Given the description of an element on the screen output the (x, y) to click on. 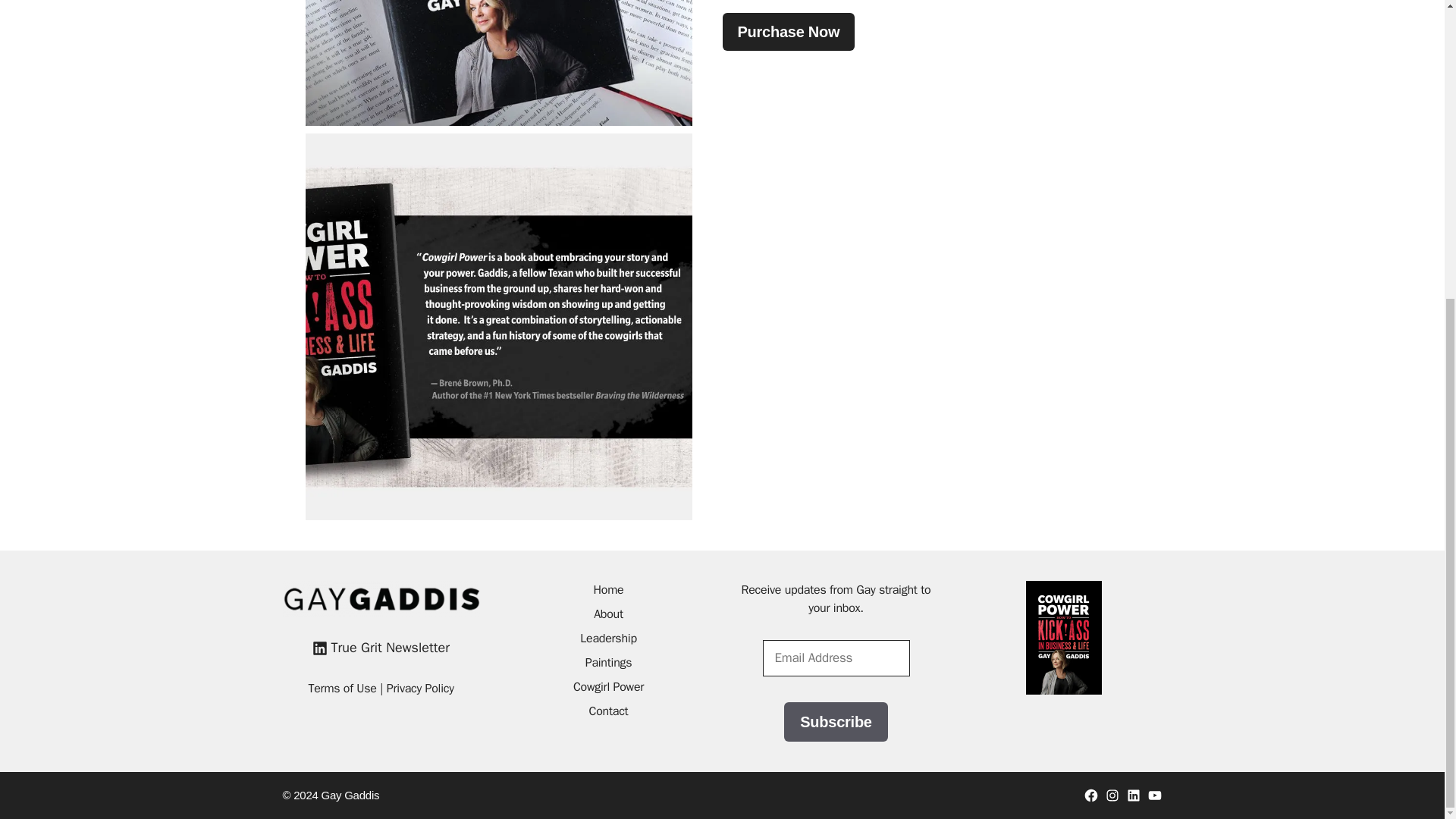
Autographed Copy of "Cowgirl Power" 1 (497, 63)
Subscribe (835, 721)
